Given the description of an element on the screen output the (x, y) to click on. 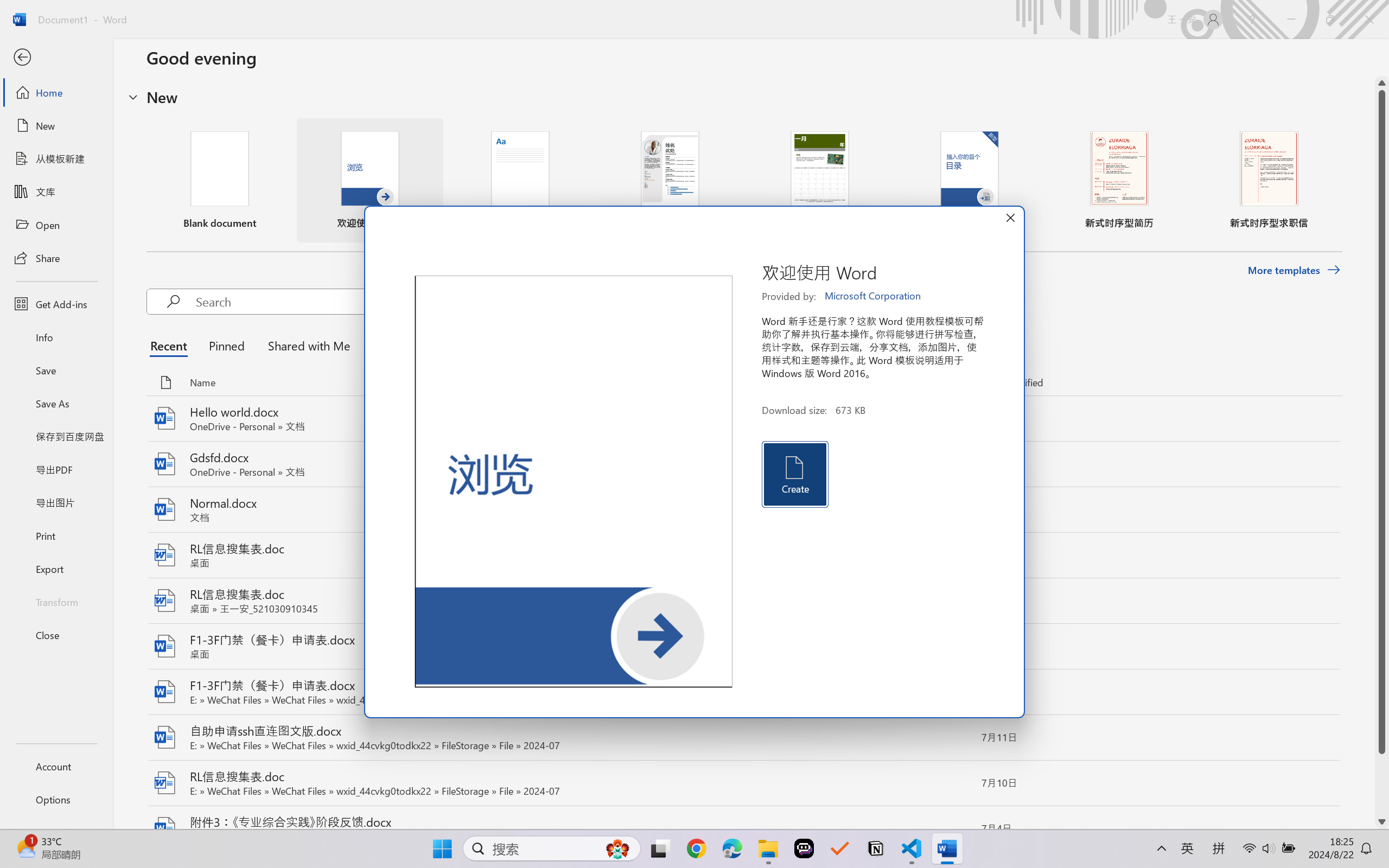
Create (794, 473)
More templates (1293, 270)
Account (56, 765)
Pin this item to the list (954, 828)
Info (56, 337)
Export (56, 568)
